Given the description of an element on the screen output the (x, y) to click on. 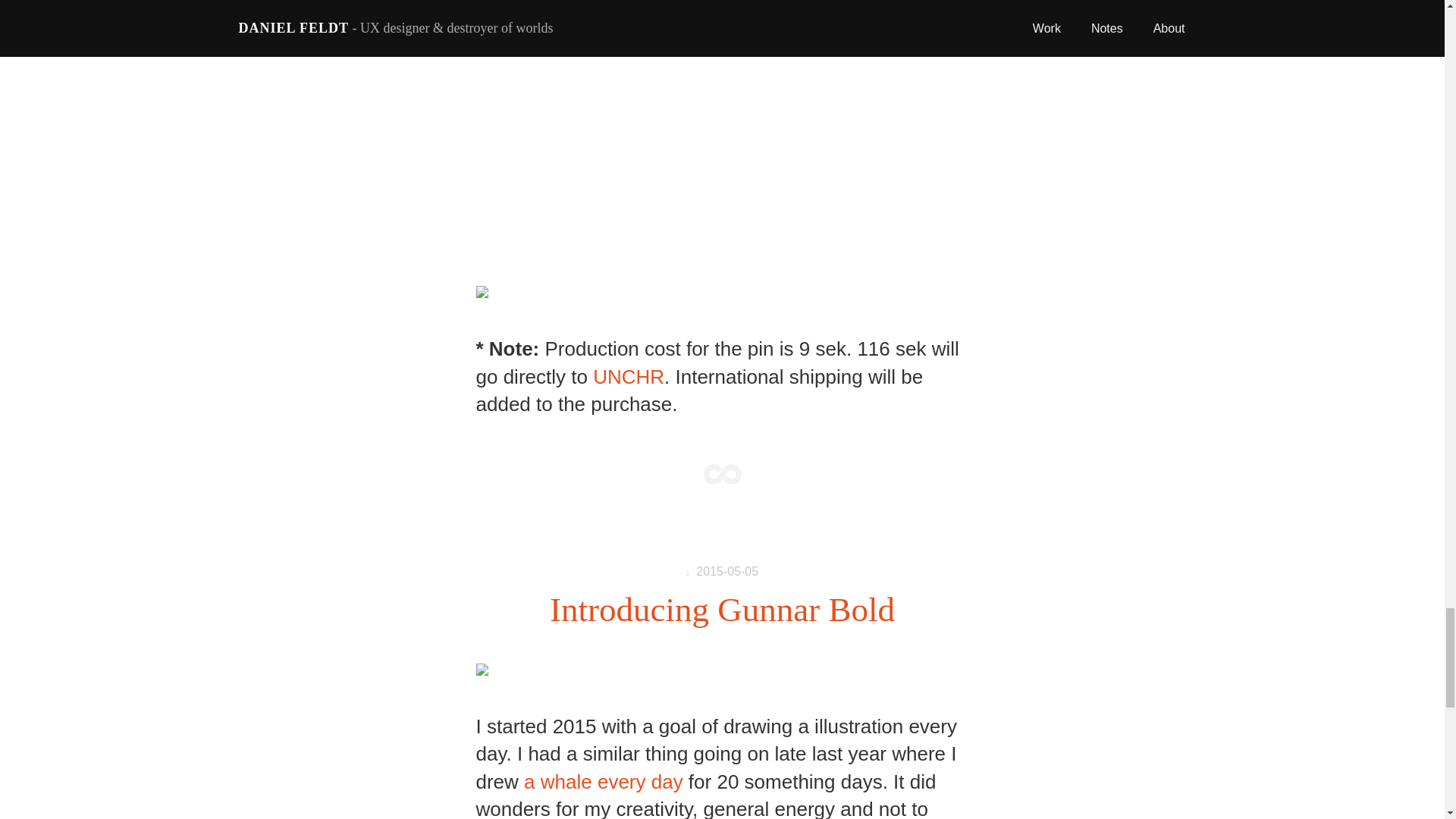
UNCHR (627, 376)
Introducing Gunnar Bold (722, 609)
a whale every day (603, 781)
